Given the description of an element on the screen output the (x, y) to click on. 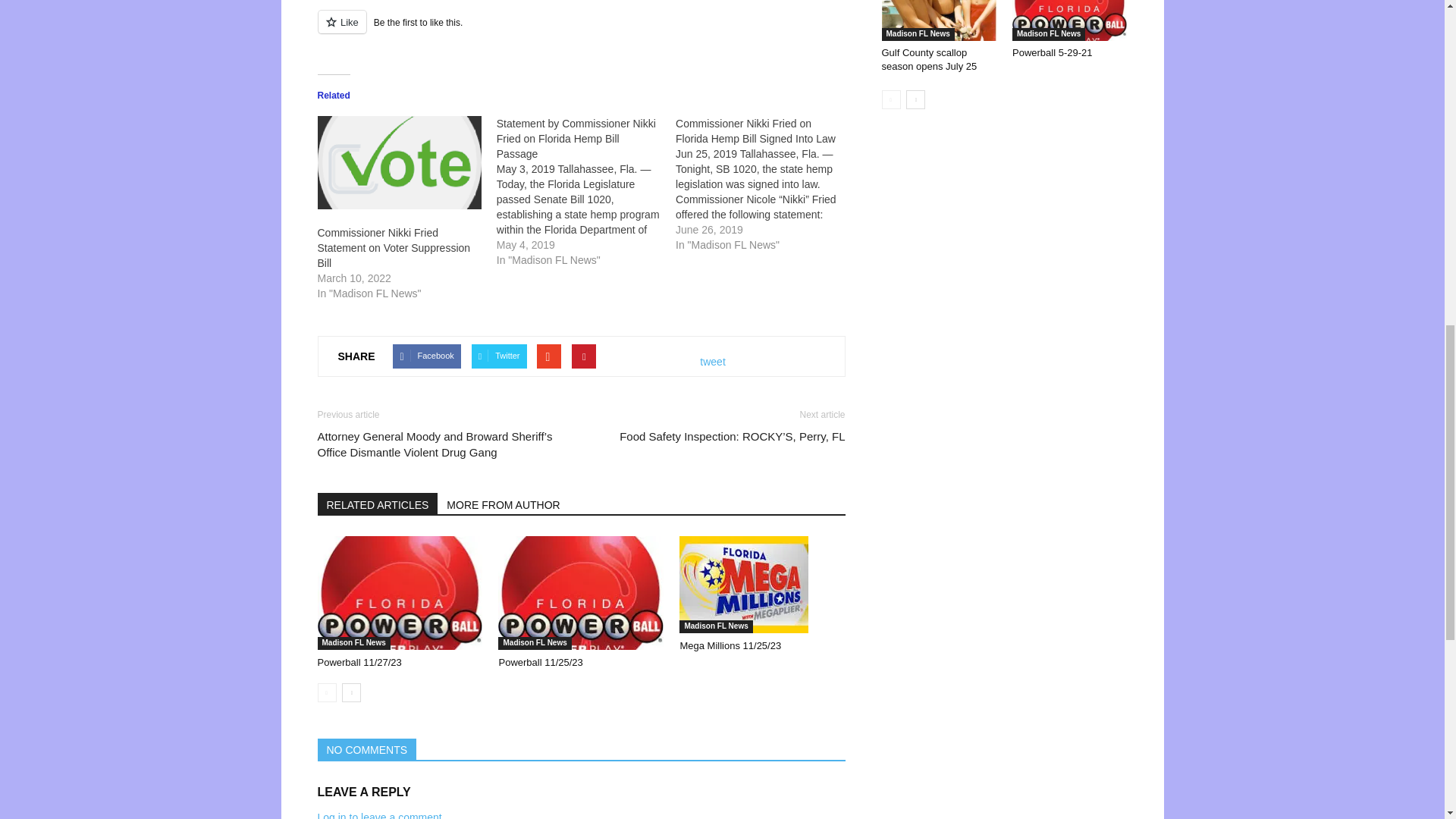
Commissioner Nikki Fried Statement on Voter Suppression Bill (393, 247)
Like or Reblog (580, 30)
Facebook (426, 355)
Commissioner Nikki Fried Statement on Voter Suppression Bill (393, 247)
Commissioner Nikki Fried Statement on Voter Suppression Bill (398, 162)
